Given the description of an element on the screen output the (x, y) to click on. 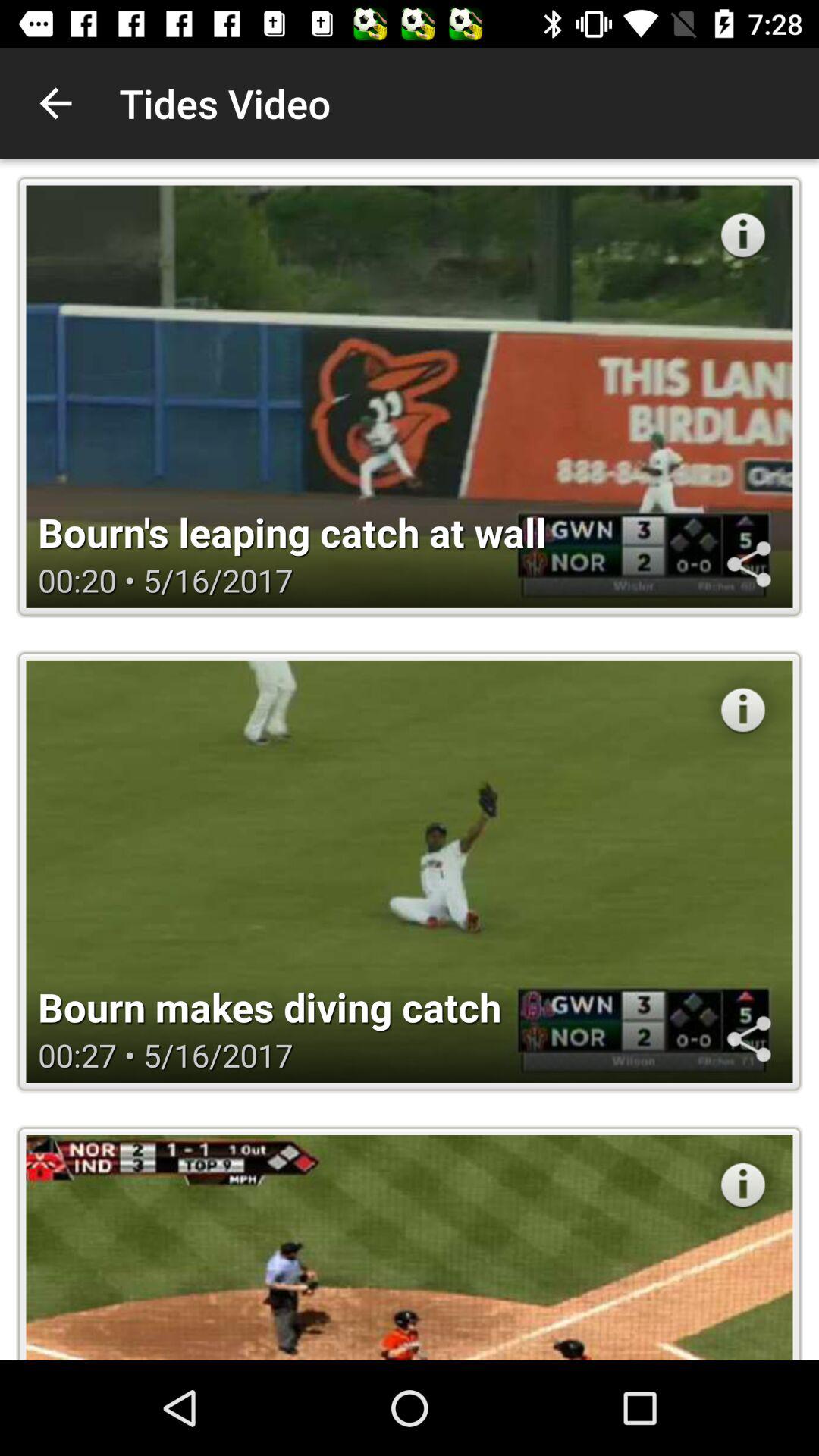
get video info (742, 709)
